Given the description of an element on the screen output the (x, y) to click on. 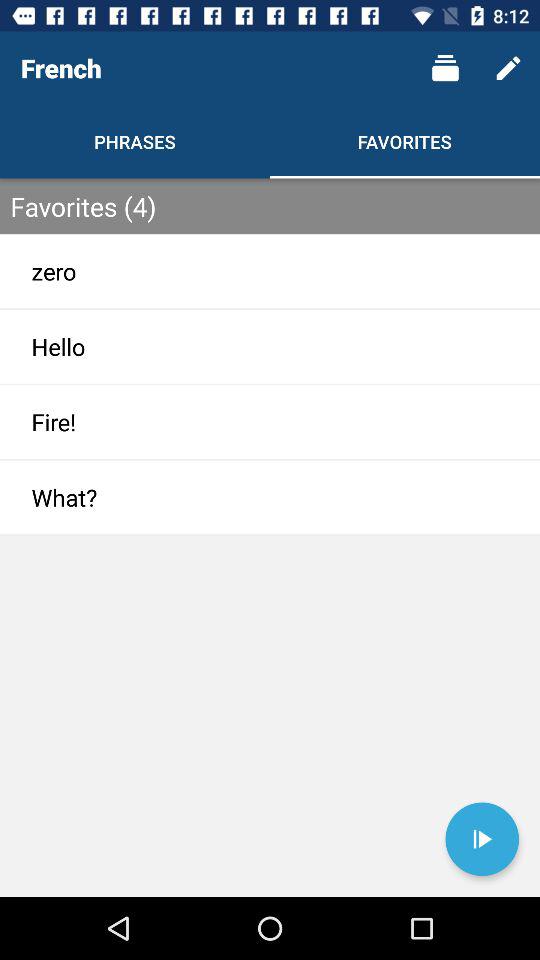
tap the icon above favorites icon (444, 67)
